Given the description of an element on the screen output the (x, y) to click on. 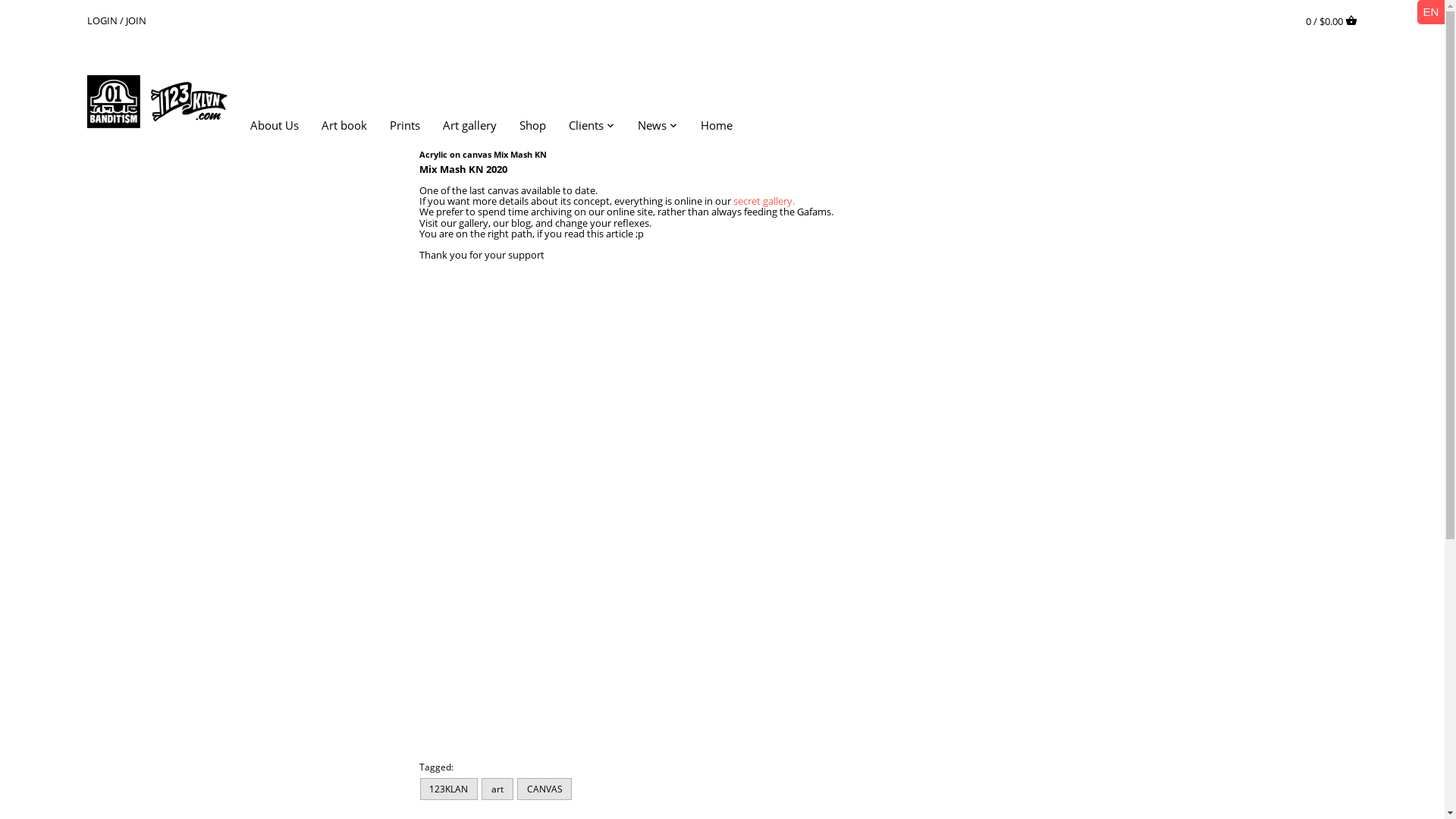
secret gallery. Element type: text (762, 200)
Shop Element type: text (532, 126)
0 / $0.00 CART Element type: text (1331, 19)
CANVAS Element type: text (544, 789)
Home Element type: text (716, 126)
Art book Element type: text (344, 126)
123KLAN Element type: text (448, 789)
Art gallery Element type: text (469, 126)
JOIN Element type: text (135, 19)
About Us Element type: text (280, 126)
News Element type: text (651, 126)
Clients Element type: text (586, 126)
LOGIN Element type: text (102, 19)
Prints Element type: text (404, 126)
art Element type: text (496, 789)
